Given the description of an element on the screen output the (x, y) to click on. 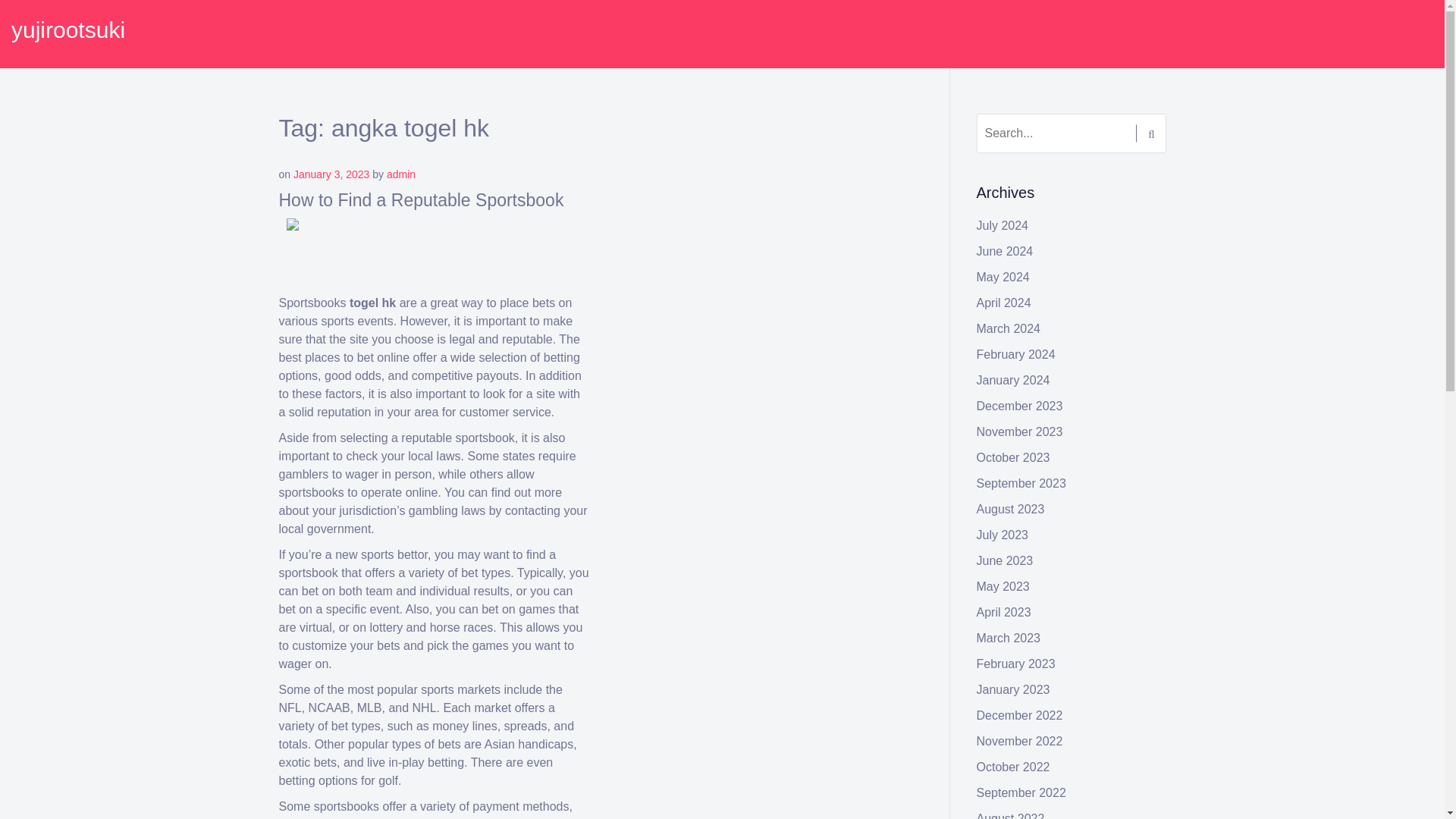
September 2023 (1020, 482)
November 2022 (1019, 740)
yujirootsuki (68, 29)
May 2024 (1002, 277)
admin (400, 174)
June 2024 (1004, 250)
February 2024 (1015, 354)
April 2024 (1003, 302)
July 2023 (1002, 534)
togel hk (372, 302)
January 2023 (1012, 689)
May 2023 (1002, 585)
March 2024 (1008, 328)
December 2022 (1019, 715)
October 2023 (1012, 457)
